Given the description of an element on the screen output the (x, y) to click on. 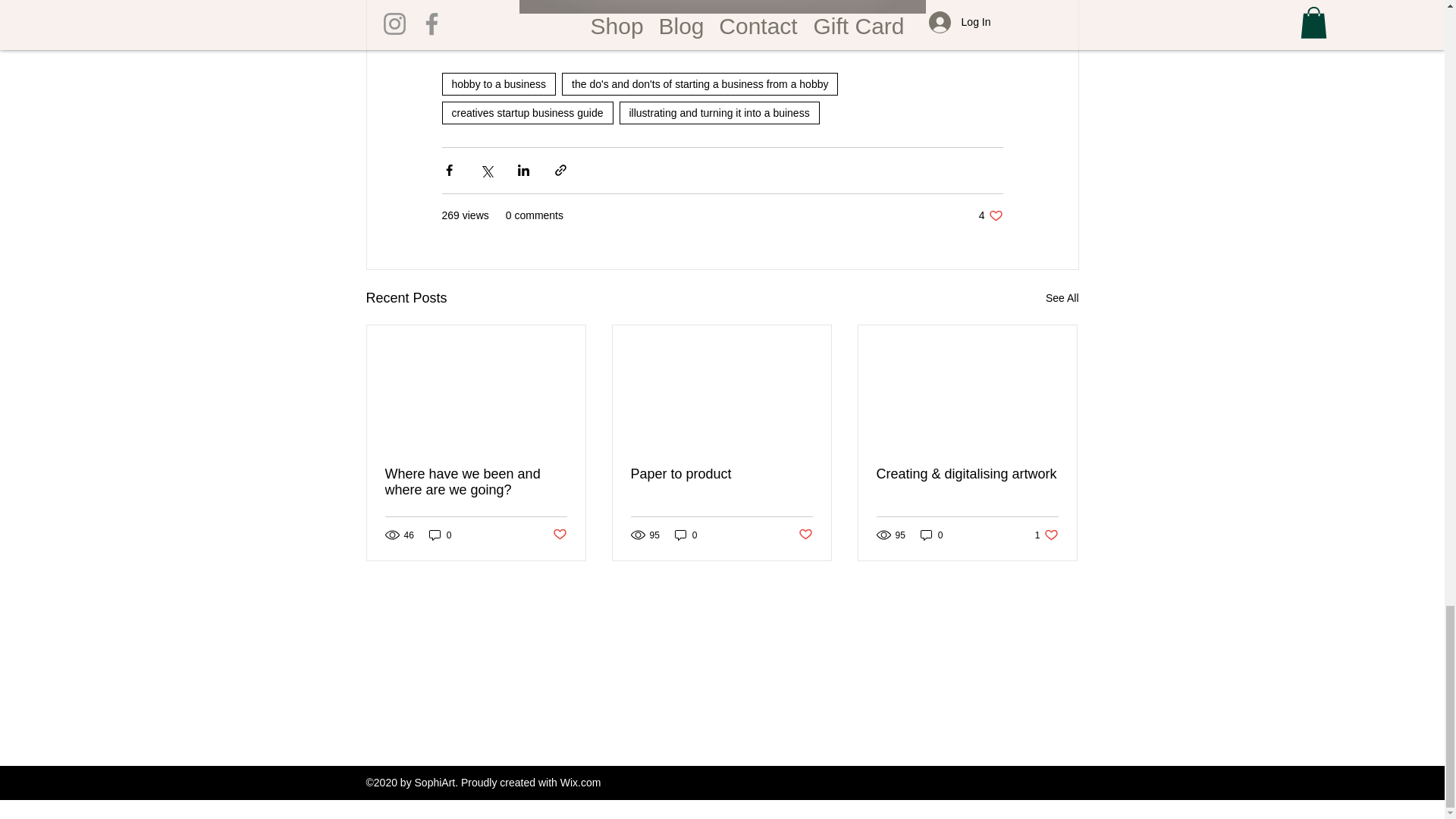
0 (931, 534)
illustrating and turning it into a buiness (990, 215)
Paper to product (718, 112)
0 (721, 474)
hobby to a business (685, 534)
Post not marked as liked (498, 83)
See All (804, 534)
Post not marked as liked (1061, 298)
Where have we been and where are we going? (558, 534)
the do's and don'ts of starting a business from a hobby (1046, 534)
creatives startup business guide (476, 481)
0 (700, 83)
